Given the description of an element on the screen output the (x, y) to click on. 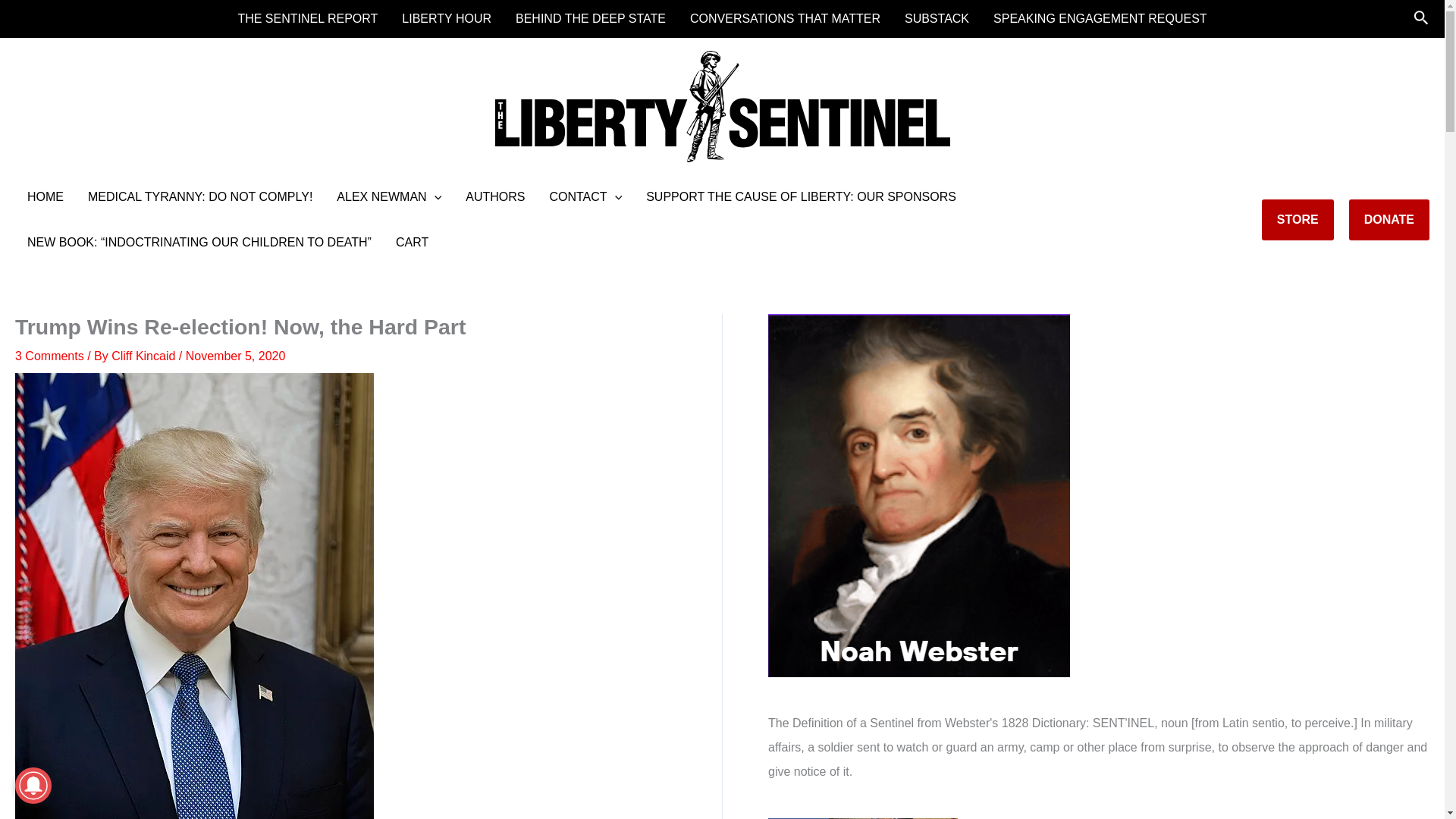
AUTHORS (494, 197)
ALEX NEWMAN (388, 197)
MEDICAL TYRANNY: DO NOT COMPLY! (199, 197)
LIBERTY HOUR (446, 18)
SUPPORT THE CAUSE OF LIBERTY: OUR SPONSORS (800, 197)
DONATE (1389, 219)
STORE (1297, 219)
BEHIND THE DEEP STATE (590, 18)
SUBSTACK (936, 18)
Search (1421, 19)
View all posts by Cliff Kincaid (145, 355)
CART (412, 242)
THE SENTINEL REPORT (307, 18)
SPEAKING ENGAGEMENT REQUEST (1100, 18)
CONVERSATIONS THAT MATTER (785, 18)
